Given the description of an element on the screen output the (x, y) to click on. 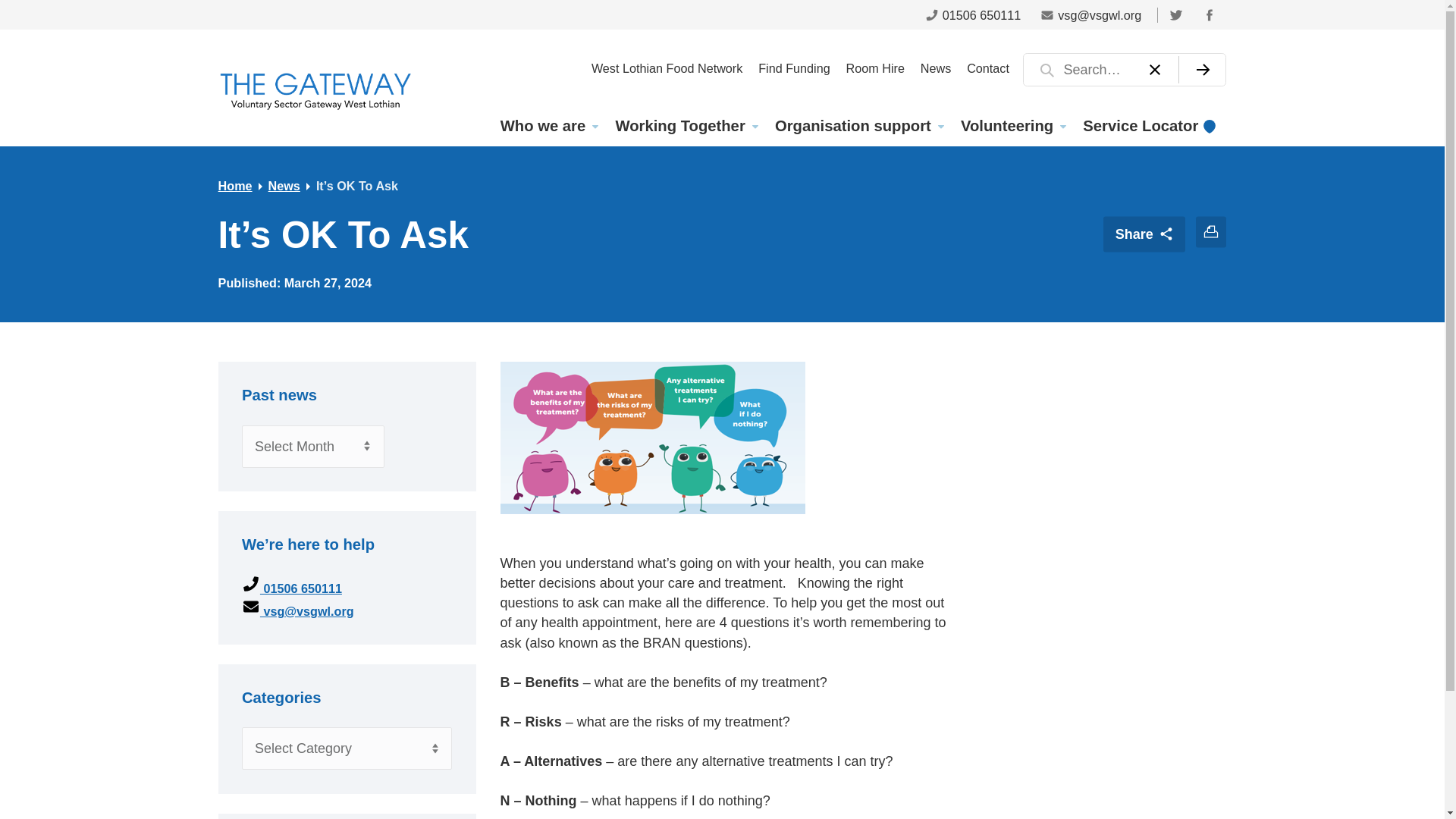
West Lothian Food Network (666, 67)
News (935, 67)
Room Hire (875, 67)
Working Together (685, 125)
01506 650111 (972, 14)
Twitter (1174, 14)
Organisation support (857, 125)
Who we are (547, 125)
Facebook (1208, 14)
